Given the description of an element on the screen output the (x, y) to click on. 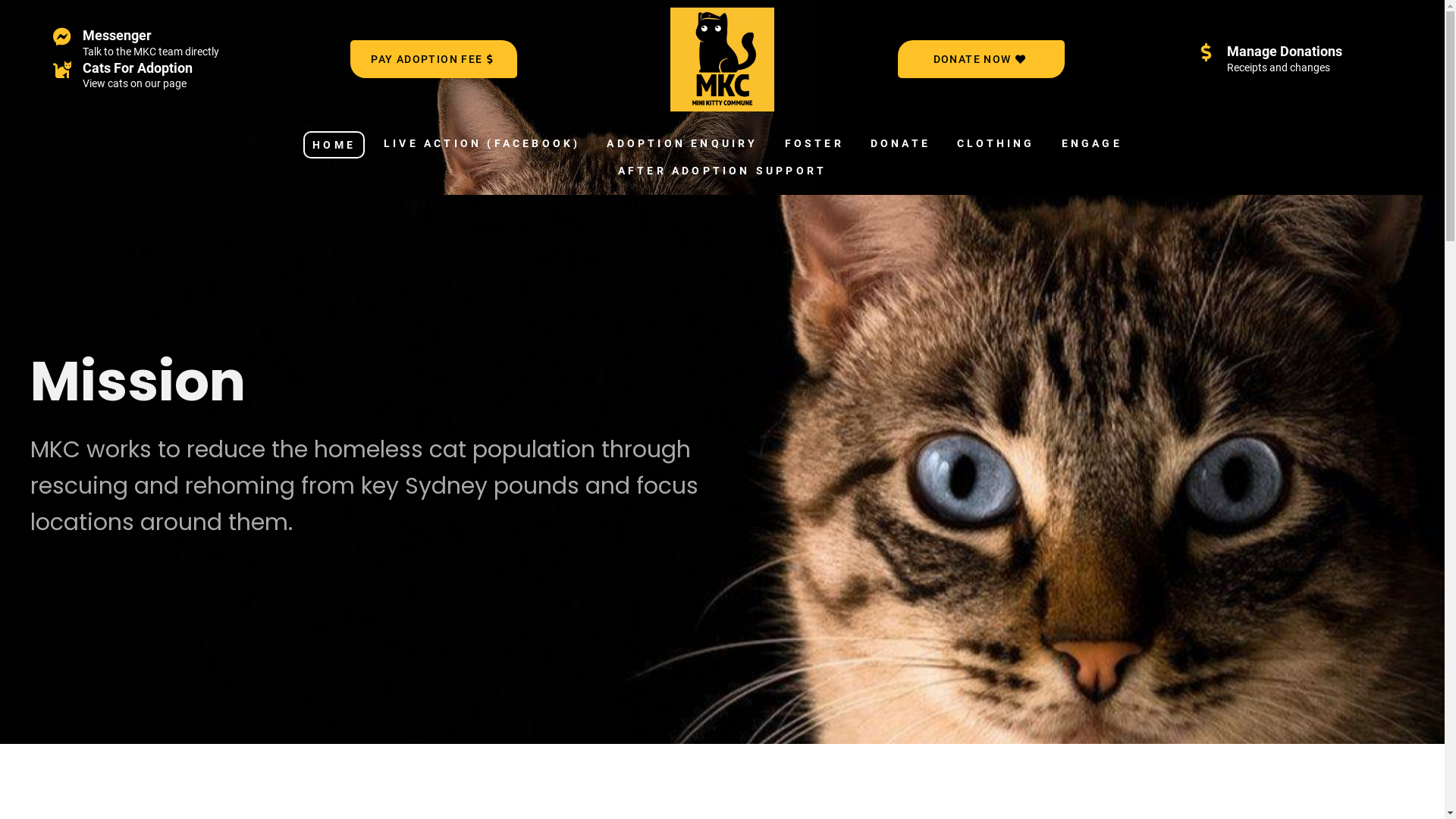
ENGAGE Element type: text (1091, 143)
HOME Element type: text (333, 144)
FOSTER Element type: text (814, 143)
Manage Donations Element type: text (1284, 51)
AFTER ADOPTION SUPPORT Element type: text (722, 170)
DONATE NOW Element type: text (980, 59)
PAY ADOPTION FEE Element type: text (433, 59)
LIVE ACTION (FACEBOOK) Element type: text (481, 143)
CLOTHING Element type: text (995, 143)
DONATE Element type: text (900, 143)
ADOPTION ENQUIRY Element type: text (682, 143)
Cats For Adoption Element type: text (137, 67)
Messenger Element type: text (116, 35)
